Given the description of an element on the screen output the (x, y) to click on. 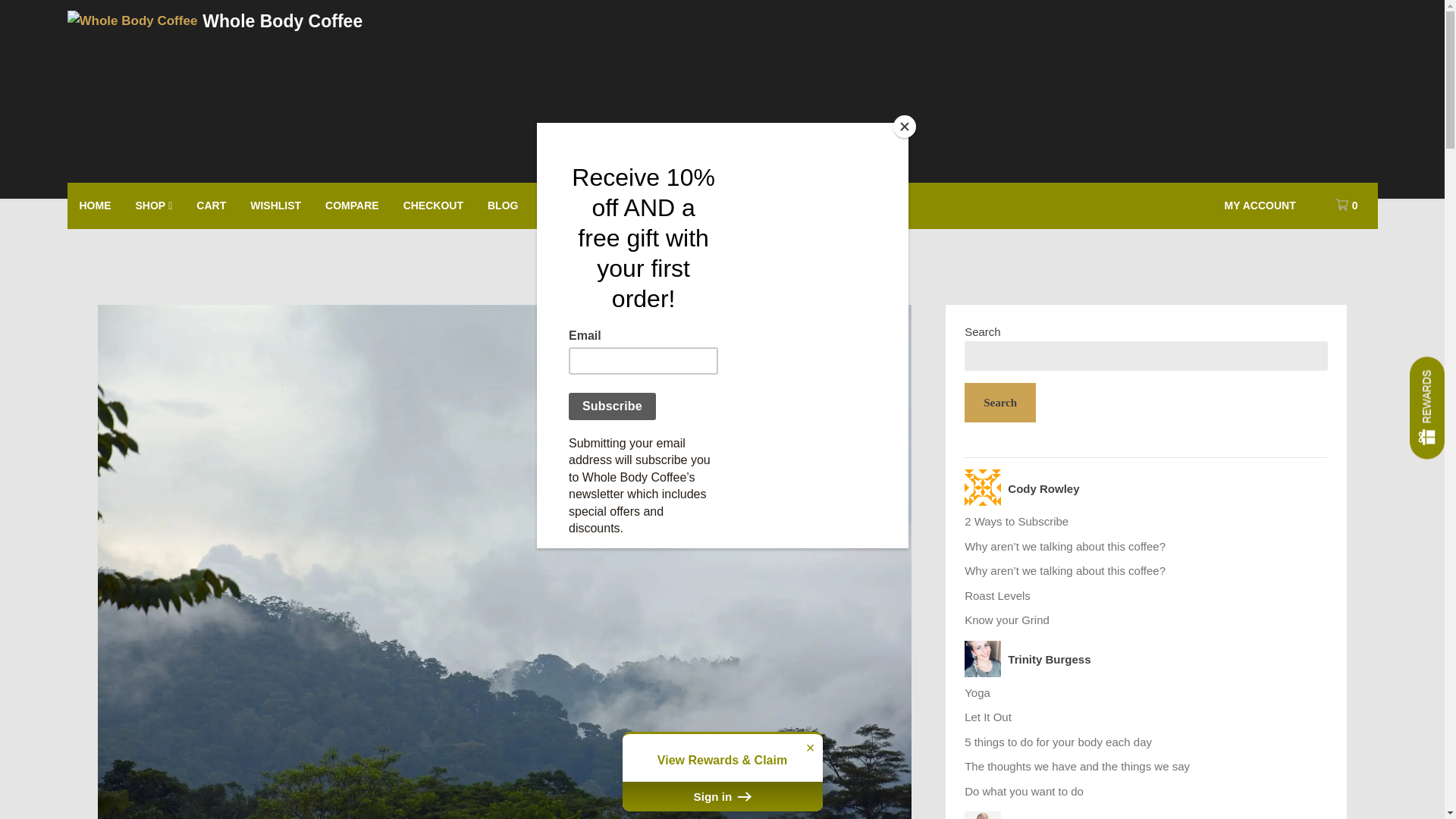
MY ACCOUNT (1259, 205)
0 (1342, 205)
BLOG (502, 205)
WISHLIST (275, 205)
The thoughts we have and the things we say (1076, 766)
Yoga (976, 692)
SHOP (153, 205)
CHECKOUT (433, 205)
HOME (94, 205)
Roast Levels (996, 594)
5 things to do for your body each day (1057, 741)
Whole Body Coffee (282, 21)
CART (211, 205)
2 Ways to Subscribe (1015, 521)
Know your Grind (1006, 619)
